Given the description of an element on the screen output the (x, y) to click on. 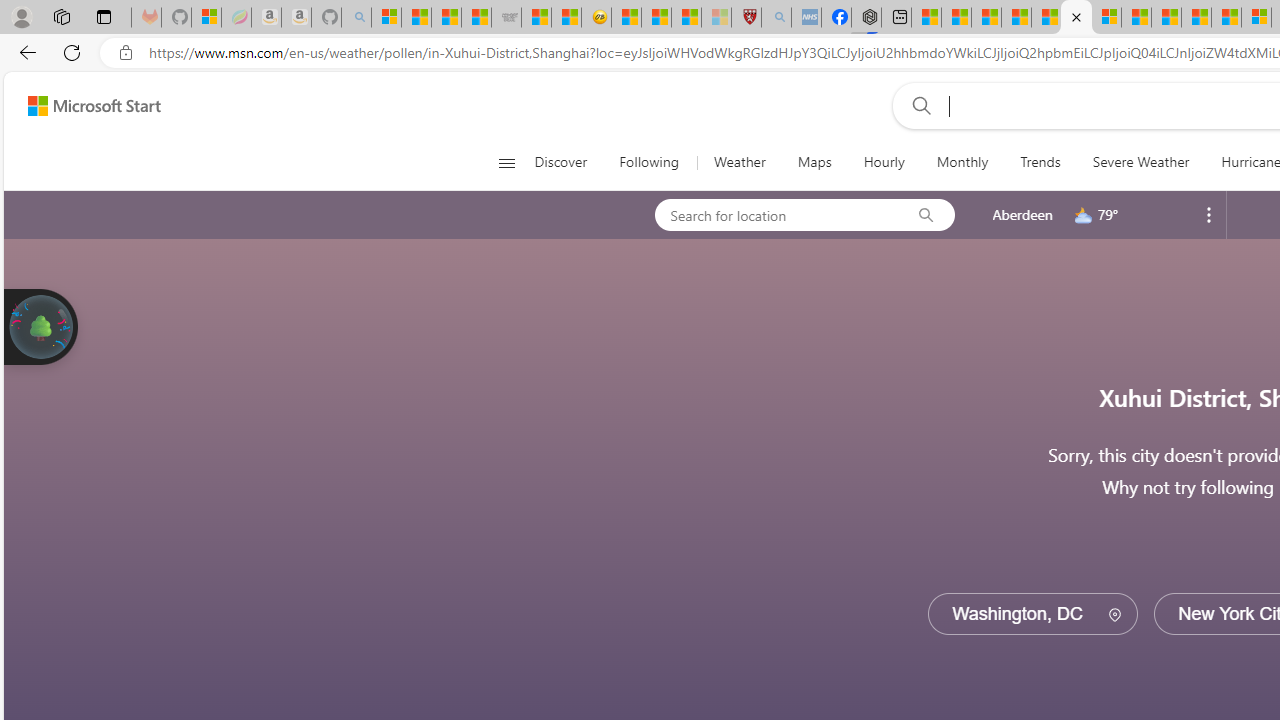
Washington, DC (1031, 614)
Search for location (776, 214)
Join us in planting real trees to help our planet! (40, 327)
